Given the description of an element on the screen output the (x, y) to click on. 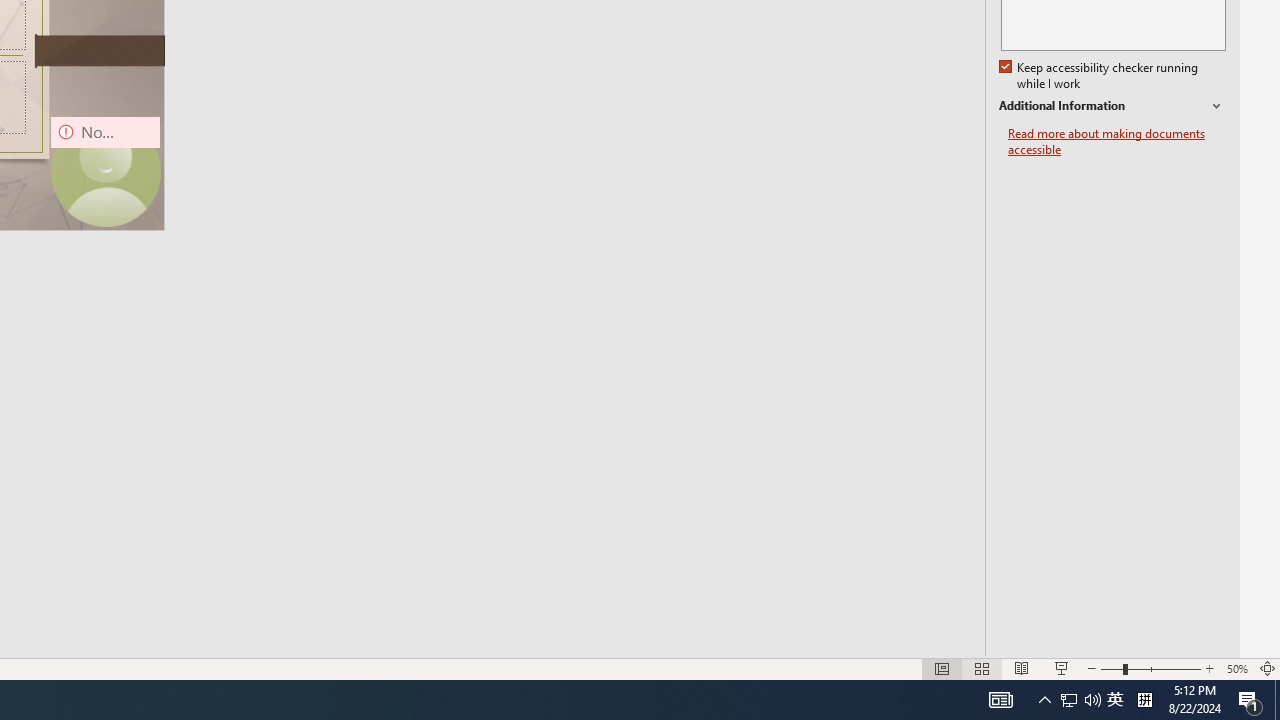
Zoom 50% (1236, 668)
Camera 9, No camera detected. (105, 171)
